Given the description of an element on the screen output the (x, y) to click on. 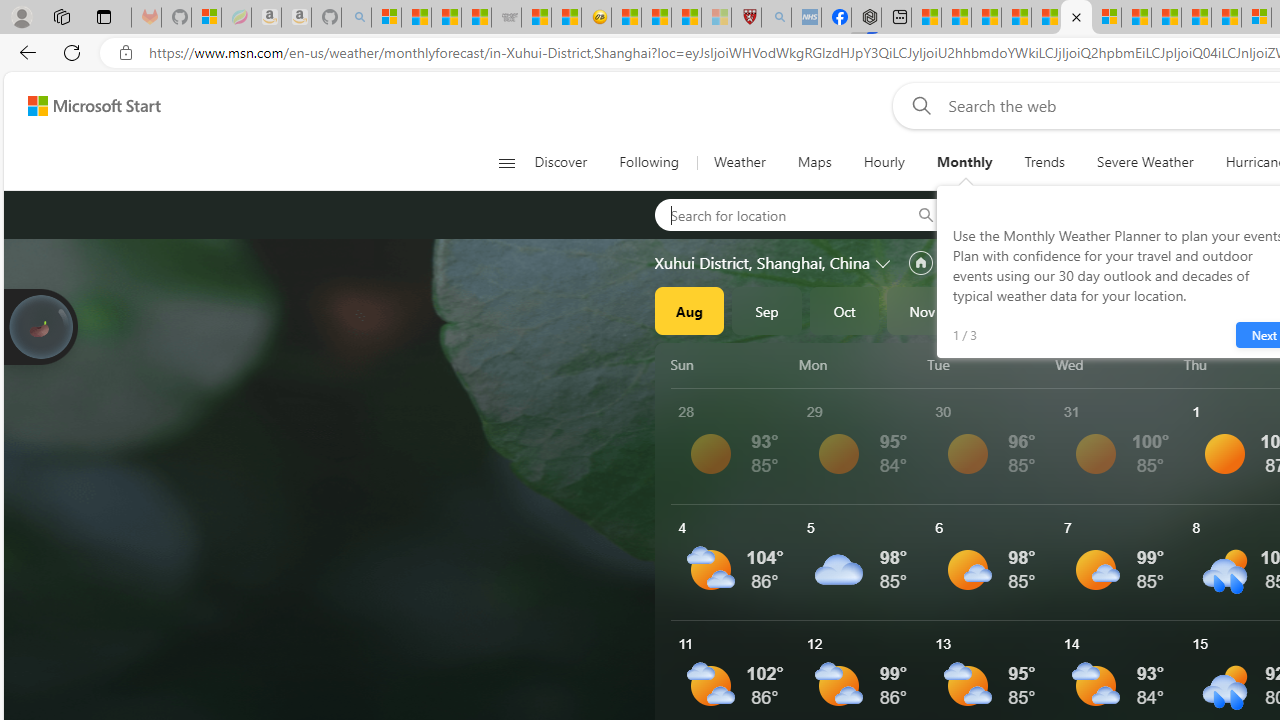
Aug (689, 310)
2025 Jan (1077, 310)
Aug (689, 310)
12 Popular Science Lies that Must be Corrected - Sleeping (715, 17)
Weather (739, 162)
See More Details (1120, 561)
Monthly (964, 162)
Sep (767, 310)
Dec (1000, 310)
